Given the description of an element on the screen output the (x, y) to click on. 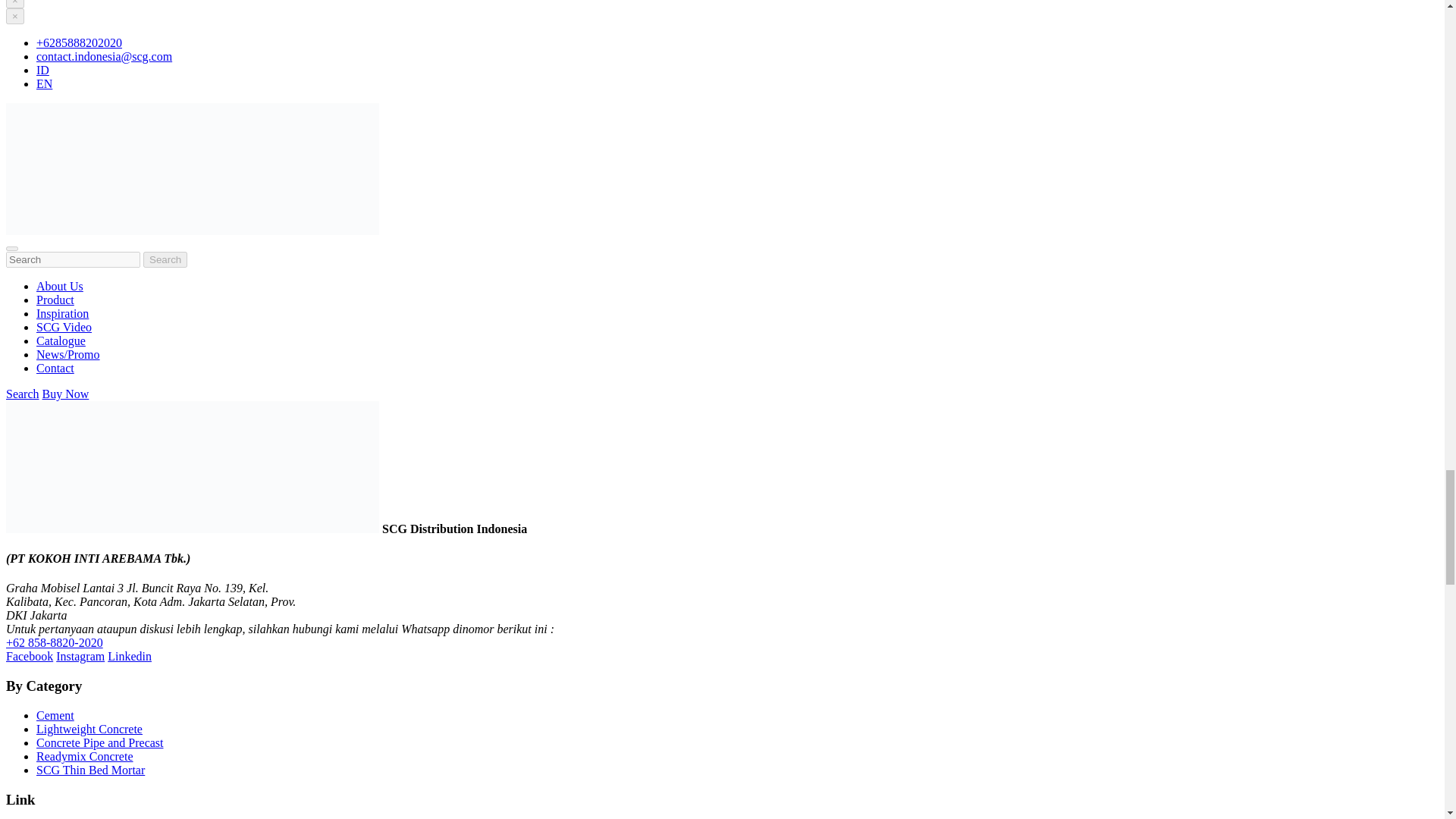
EN (44, 83)
Facebook (28, 656)
Inspiration (62, 313)
Contact (55, 367)
ID (42, 69)
Inspiration (62, 313)
Concrete Pipe and Precast (99, 742)
EN (44, 83)
Product (55, 299)
Contact (55, 367)
Readymix Concrete (84, 756)
SCG CBM INDONESIA (191, 230)
ID (42, 69)
Search (22, 393)
SCG Video (63, 327)
